Given the description of an element on the screen output the (x, y) to click on. 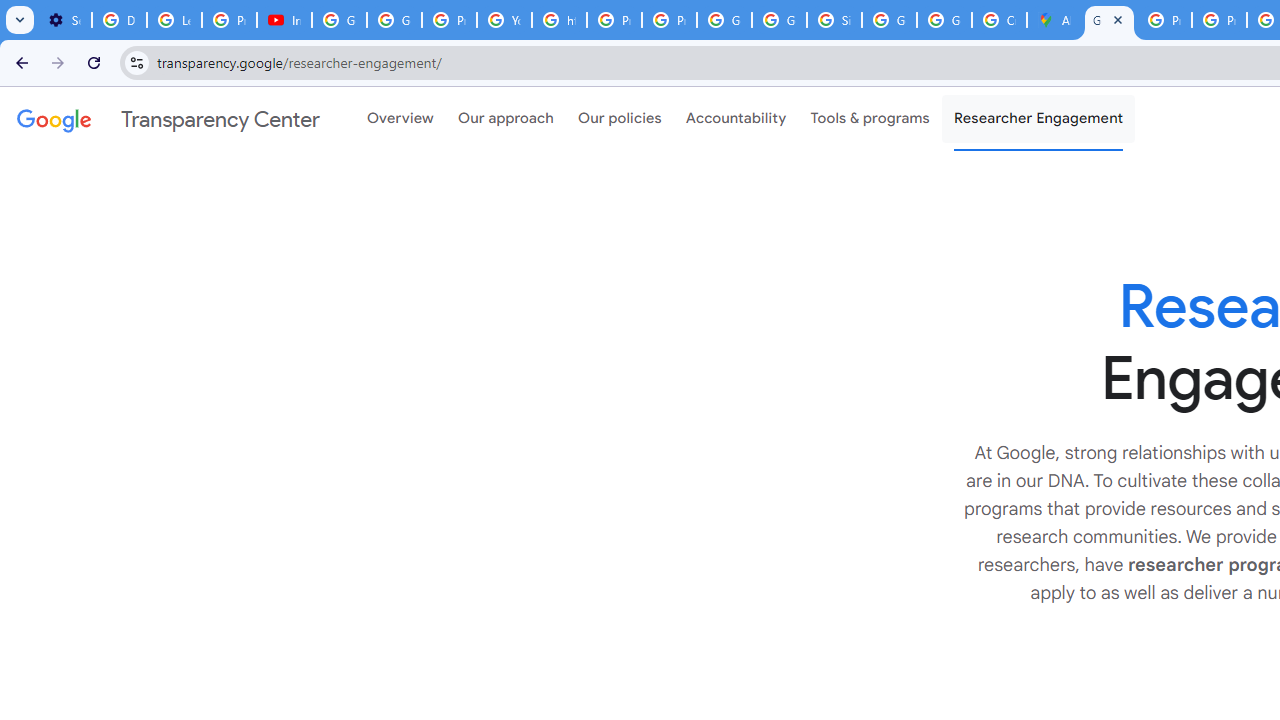
Privacy Help Center - Policies Help (614, 20)
Transparency Center (167, 119)
Introduction | Google Privacy Policy - YouTube (284, 20)
